Given the description of an element on the screen output the (x, y) to click on. 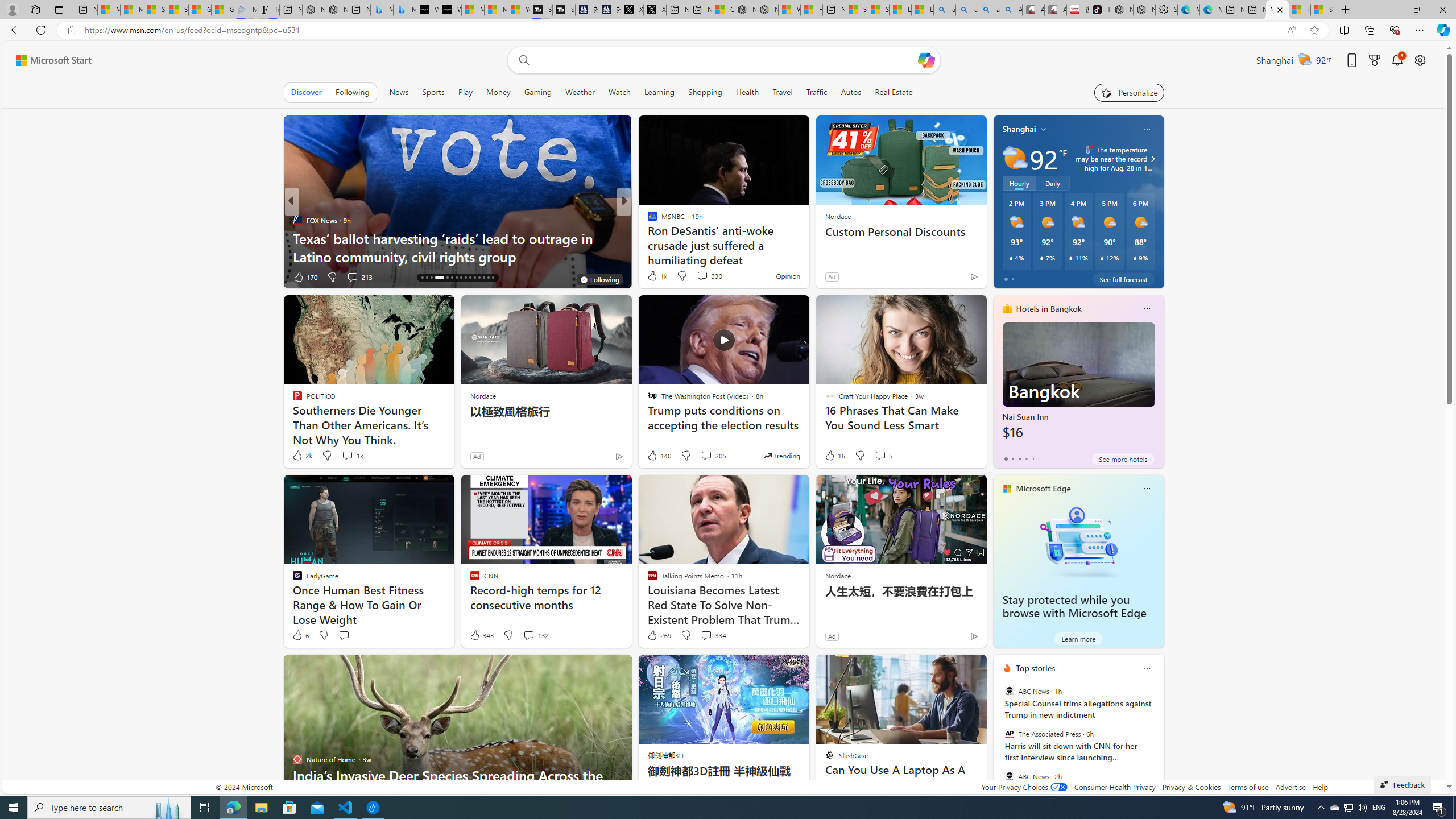
Business Insider (647, 219)
View comments 2 Comment (698, 276)
AutomationID: tab-28 (483, 277)
44 Like (652, 276)
Stay protected while you browse with Microsoft Edge (1074, 606)
AutomationID: tab-18 (431, 277)
This story is trending (781, 455)
Microsoft rewards (1374, 60)
Autos (850, 92)
